Given the description of an element on the screen output the (x, y) to click on. 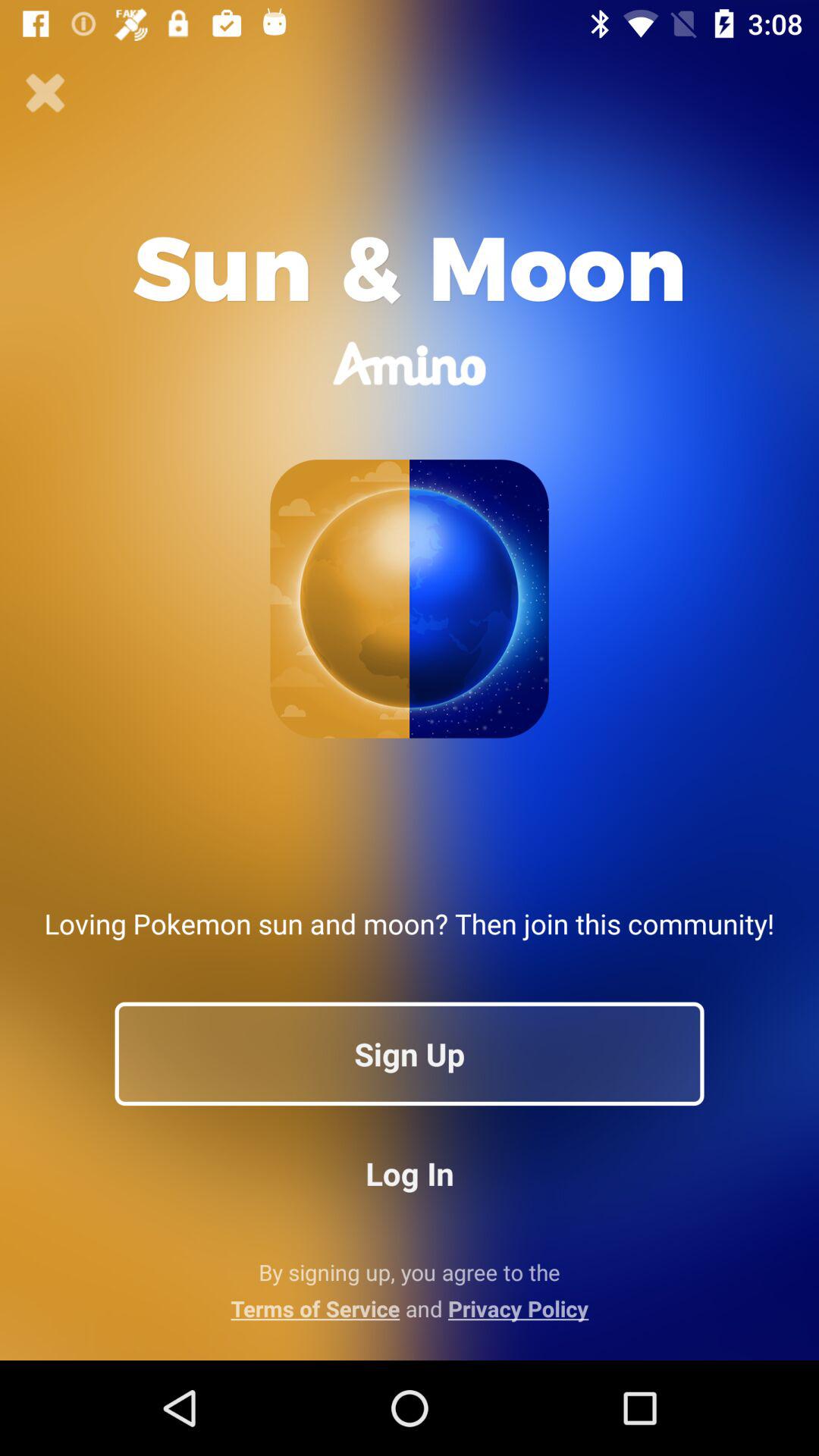
close button (45, 93)
